Given the description of an element on the screen output the (x, y) to click on. 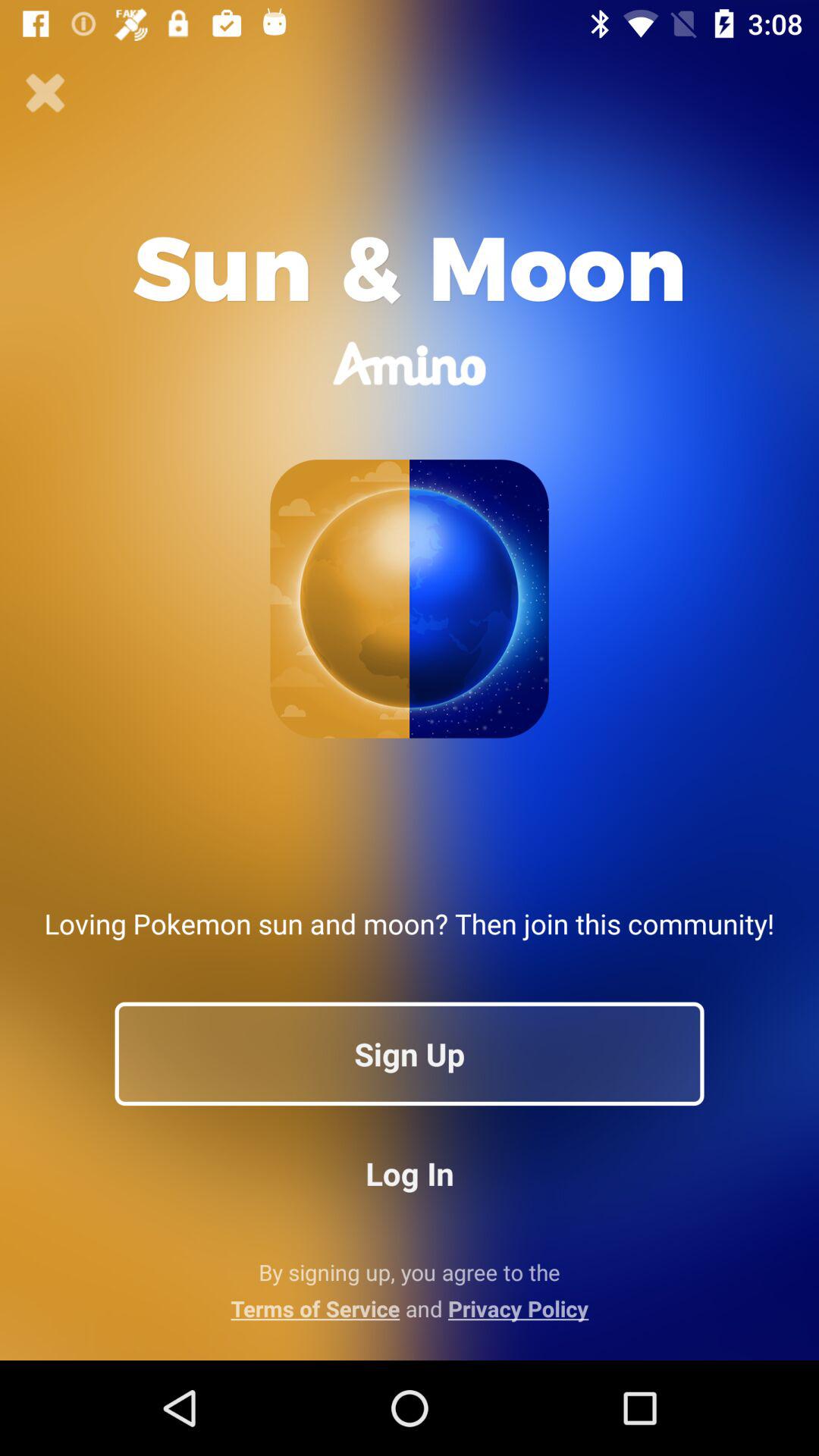
close button (45, 93)
